Given the description of an element on the screen output the (x, y) to click on. 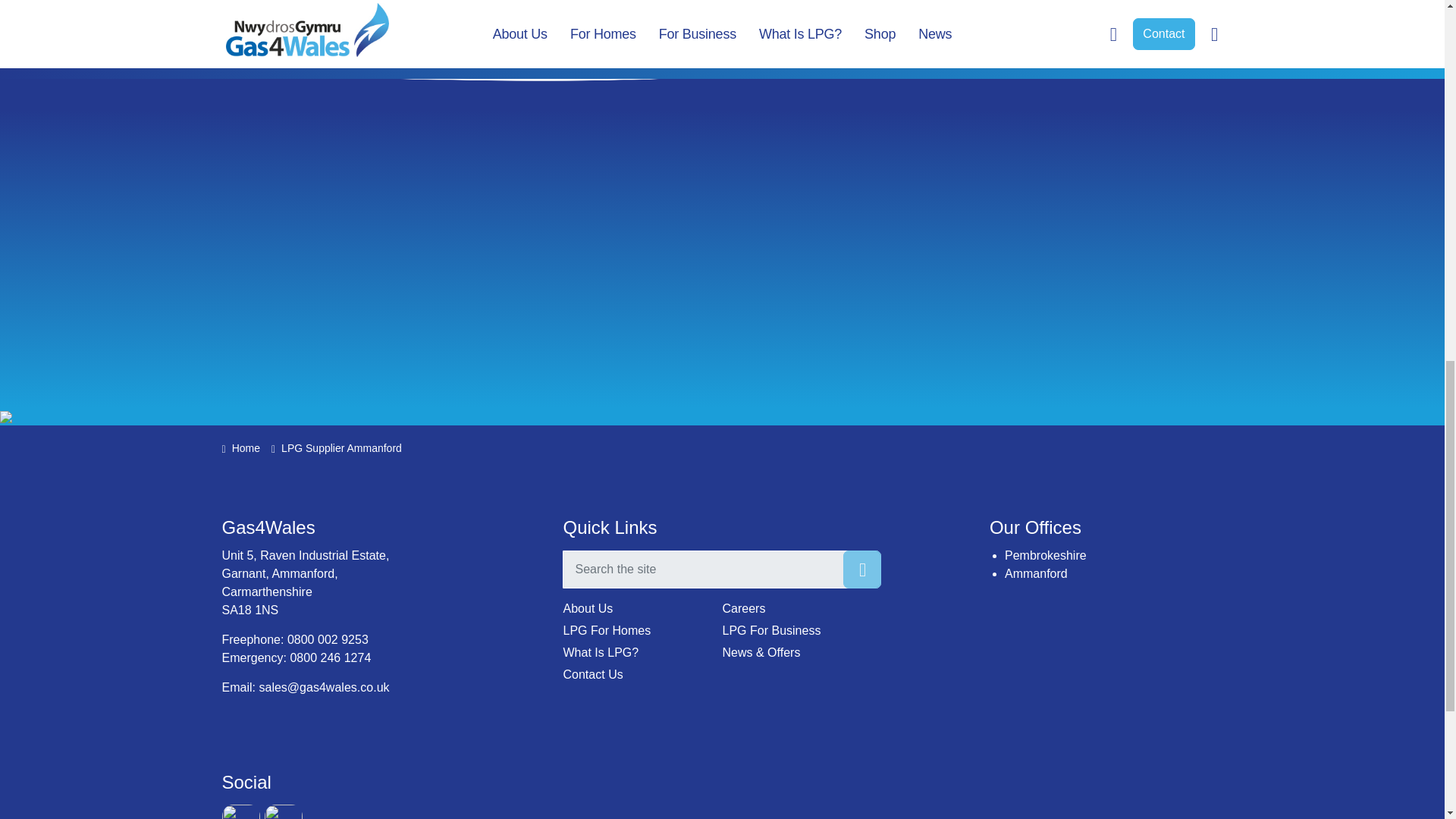
LPG Supplier Ammanford (1035, 573)
LPG Supplier Pembrokeshire (1045, 554)
Pembrokeshire (1045, 554)
About Us (642, 608)
What Is LPG? (642, 652)
Ammanford (1035, 573)
Home (240, 448)
Contact Us (642, 674)
LPG For Homes (642, 630)
